Given the description of an element on the screen output the (x, y) to click on. 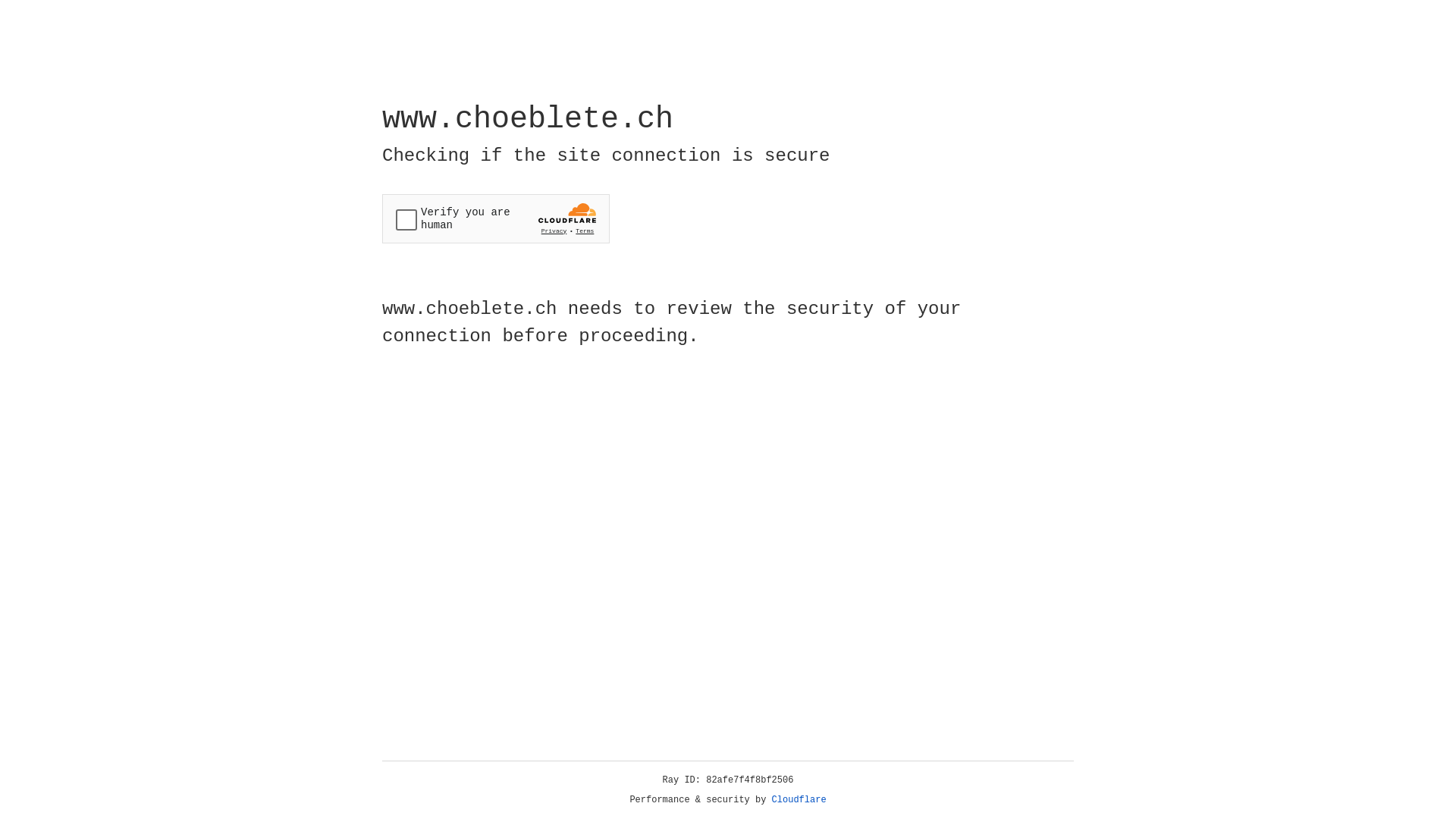
Cloudflare Element type: text (798, 799)
Widget containing a Cloudflare security challenge Element type: hover (495, 218)
